Given the description of an element on the screen output the (x, y) to click on. 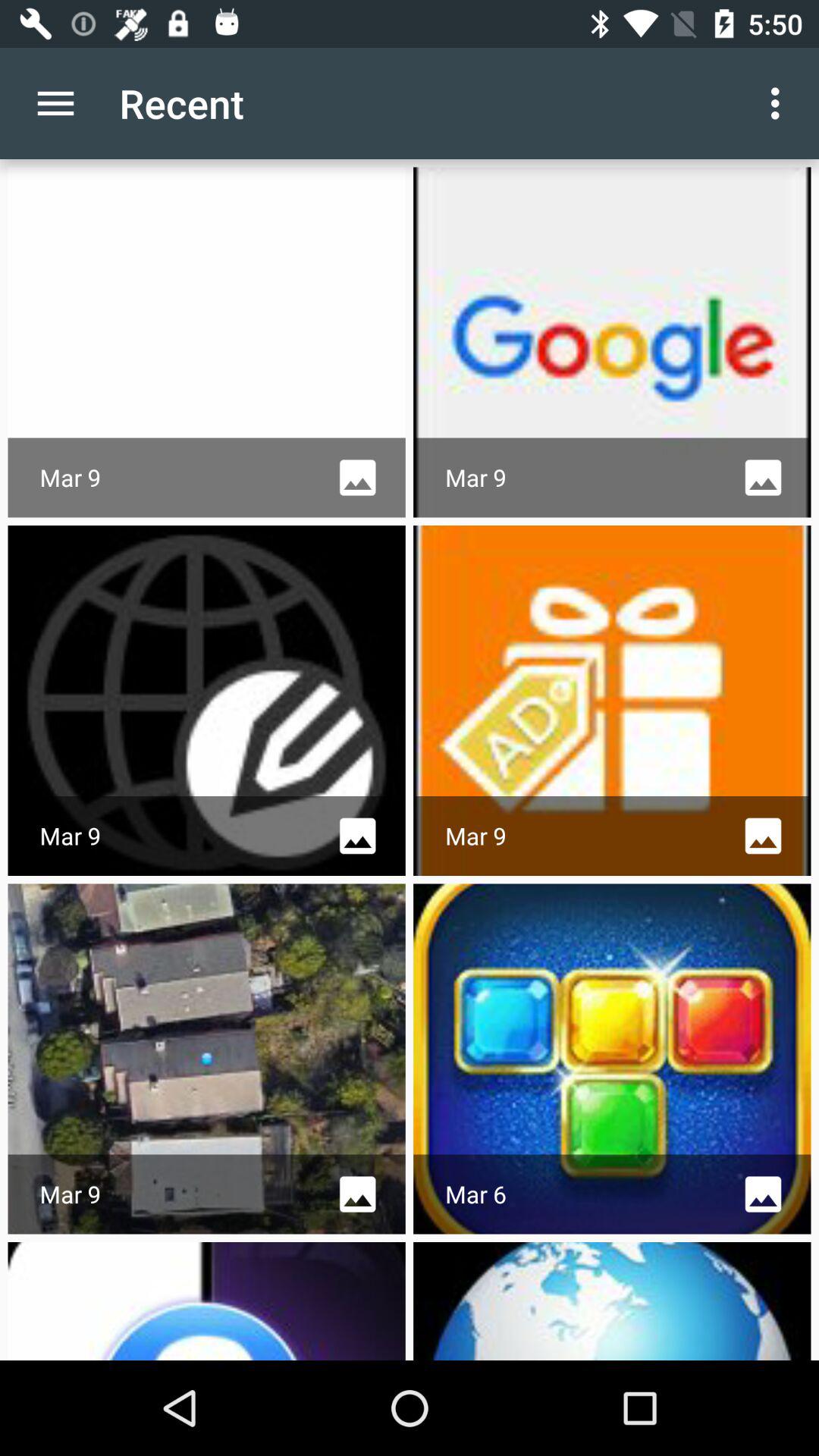
choose the app next to the recent app (55, 103)
